Given the description of an element on the screen output the (x, y) to click on. 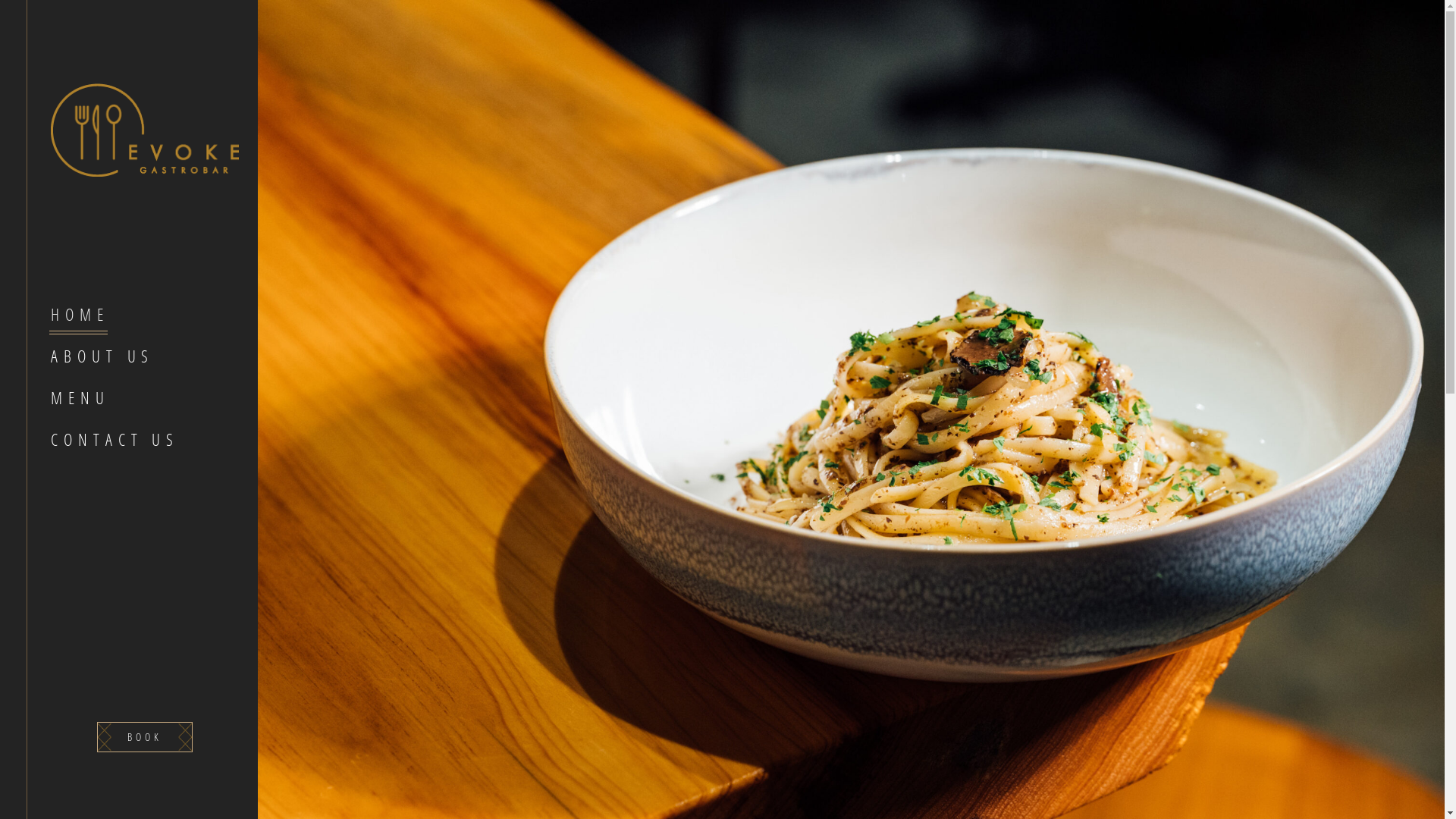
ABOUT US Element type: text (144, 355)
BOOK Element type: text (144, 736)
MENU Element type: text (144, 397)
HOME Element type: text (144, 314)
CONTACT US Element type: text (144, 439)
